Given the description of an element on the screen output the (x, y) to click on. 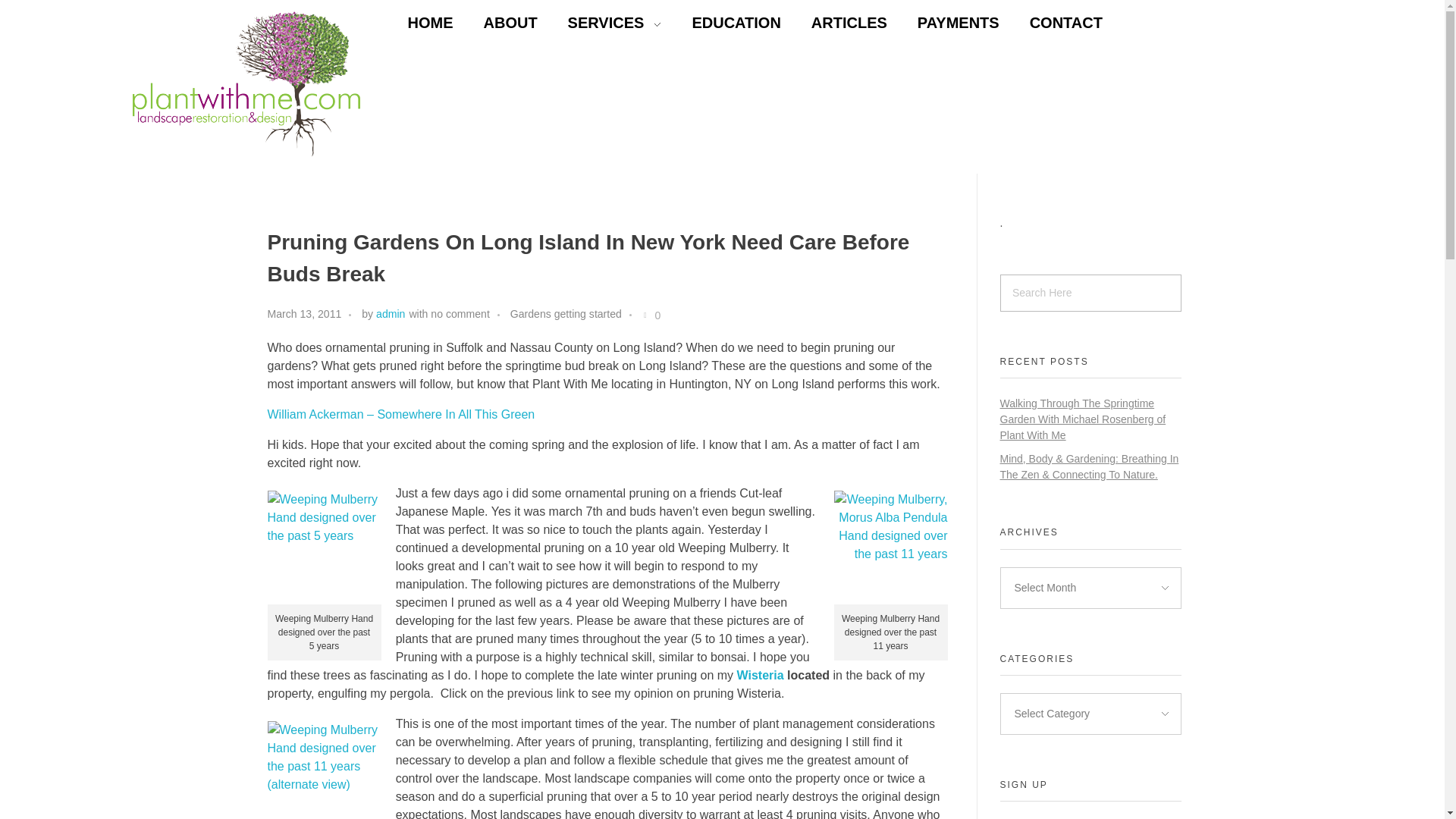
Plant With Me (174, 165)
Plant With Me (246, 84)
Gardens getting started (566, 314)
Wisteria (760, 675)
HOME (414, 22)
CONTACT (1050, 22)
PAYMENTS (942, 22)
Plant With Me (174, 165)
SERVICES (599, 22)
View all posts in Gardens getting started (566, 314)
Weeping Mulberry Hand designed over the past 11 years (890, 547)
ABOUT (494, 22)
EDUCATION (720, 22)
admin (389, 313)
View all posts by admin (389, 313)
